Given the description of an element on the screen output the (x, y) to click on. 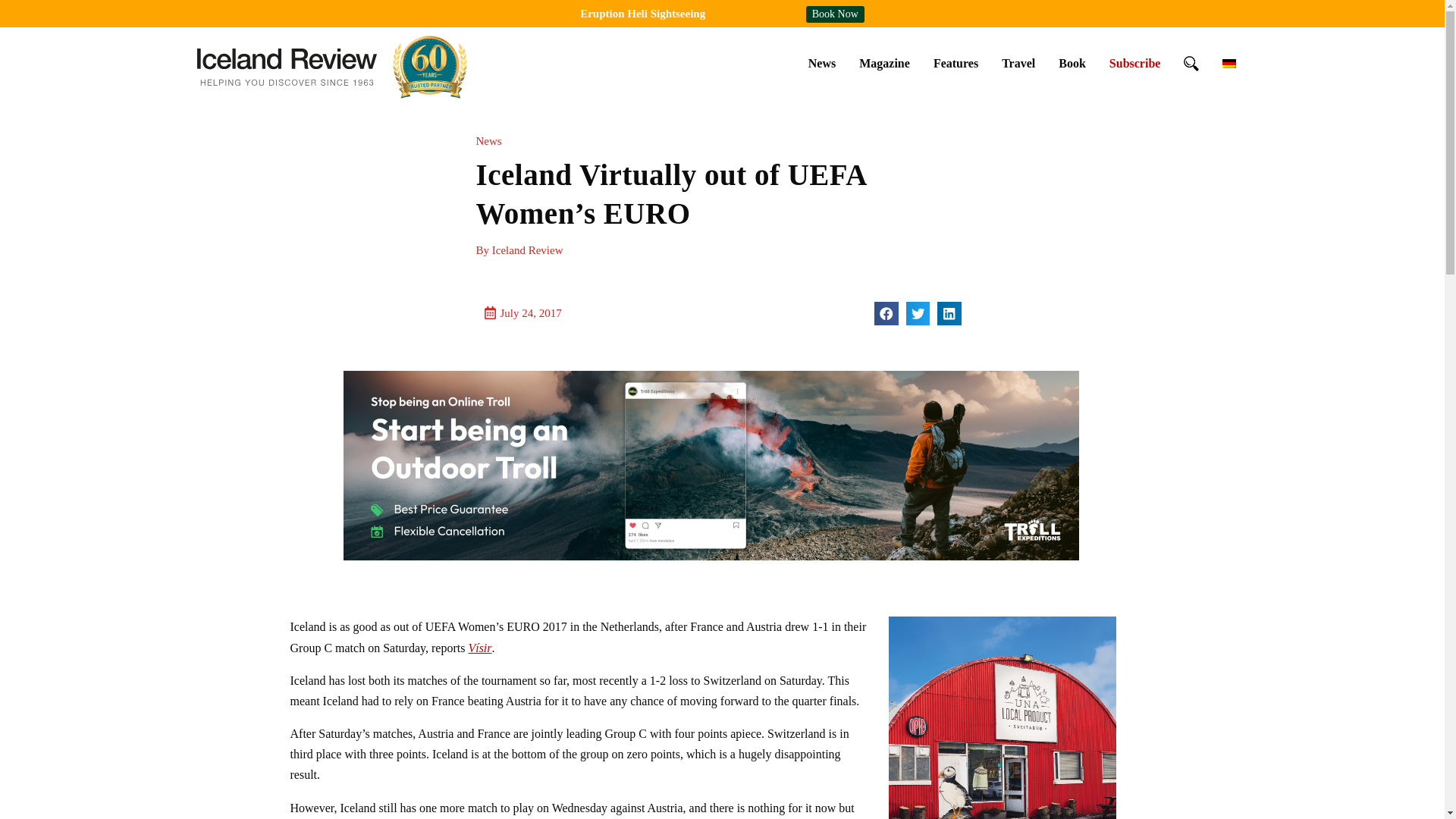
News (821, 63)
Features (955, 63)
Travel (1018, 63)
Magazine (884, 63)
Subscribe (1134, 63)
Eruption Heli Sightseeing (641, 13)
Book Now (835, 13)
Book (1071, 63)
